Given the description of an element on the screen output the (x, y) to click on. 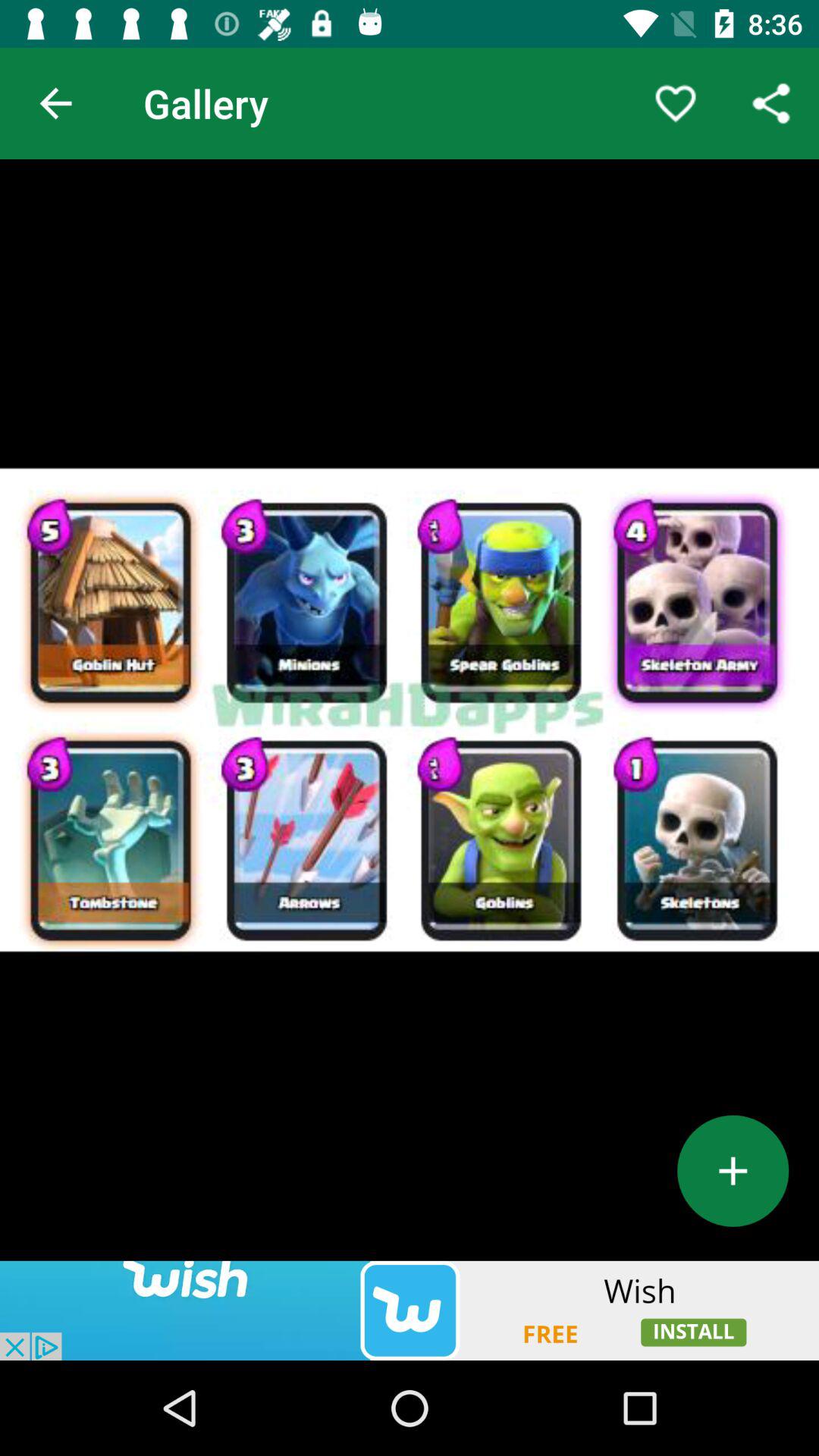
install app (409, 1310)
